Given the description of an element on the screen output the (x, y) to click on. 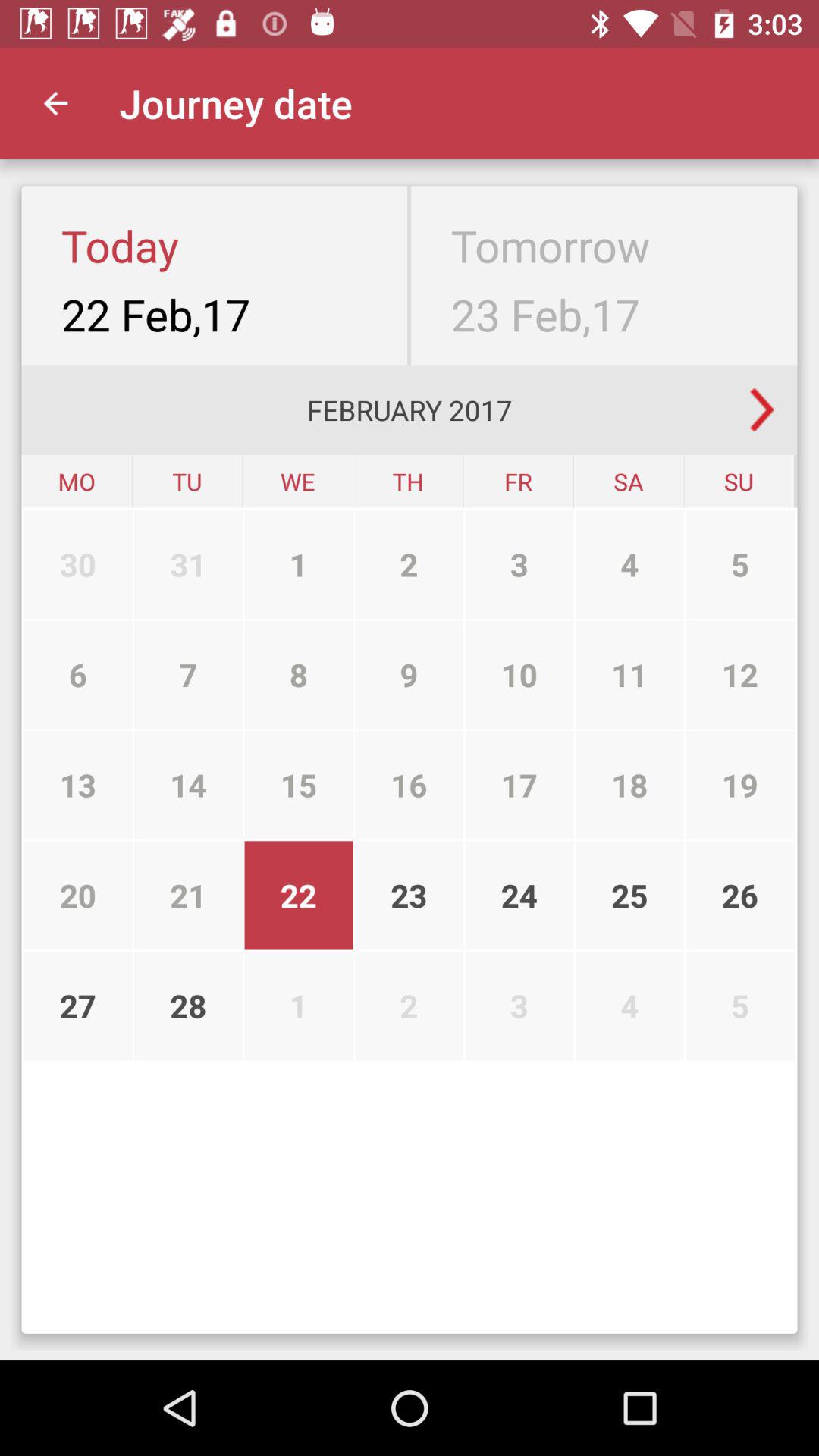
open the icon above 22 icon (408, 784)
